Given the description of an element on the screen output the (x, y) to click on. 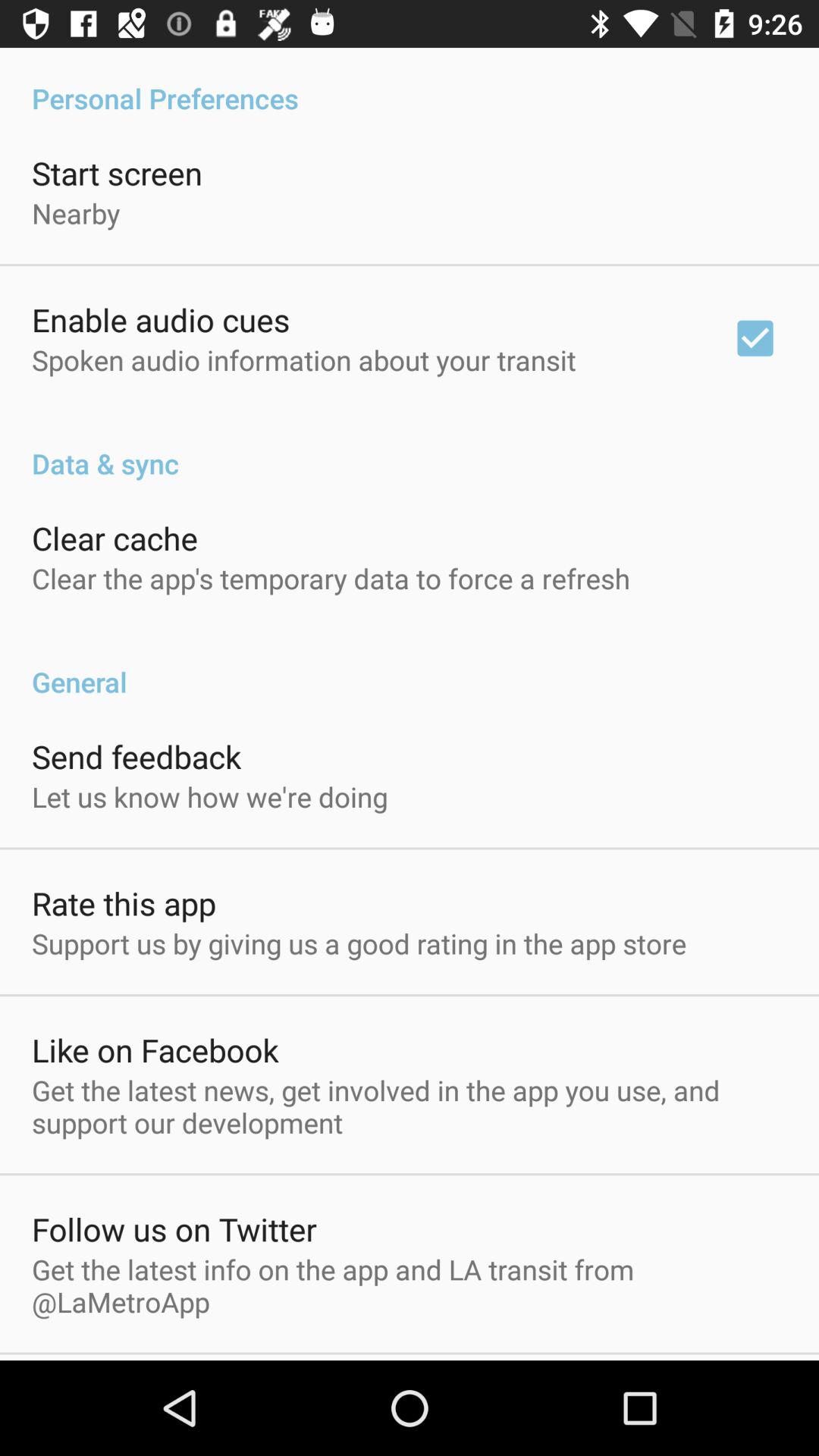
turn on the app above the clear the app (114, 537)
